Given the description of an element on the screen output the (x, y) to click on. 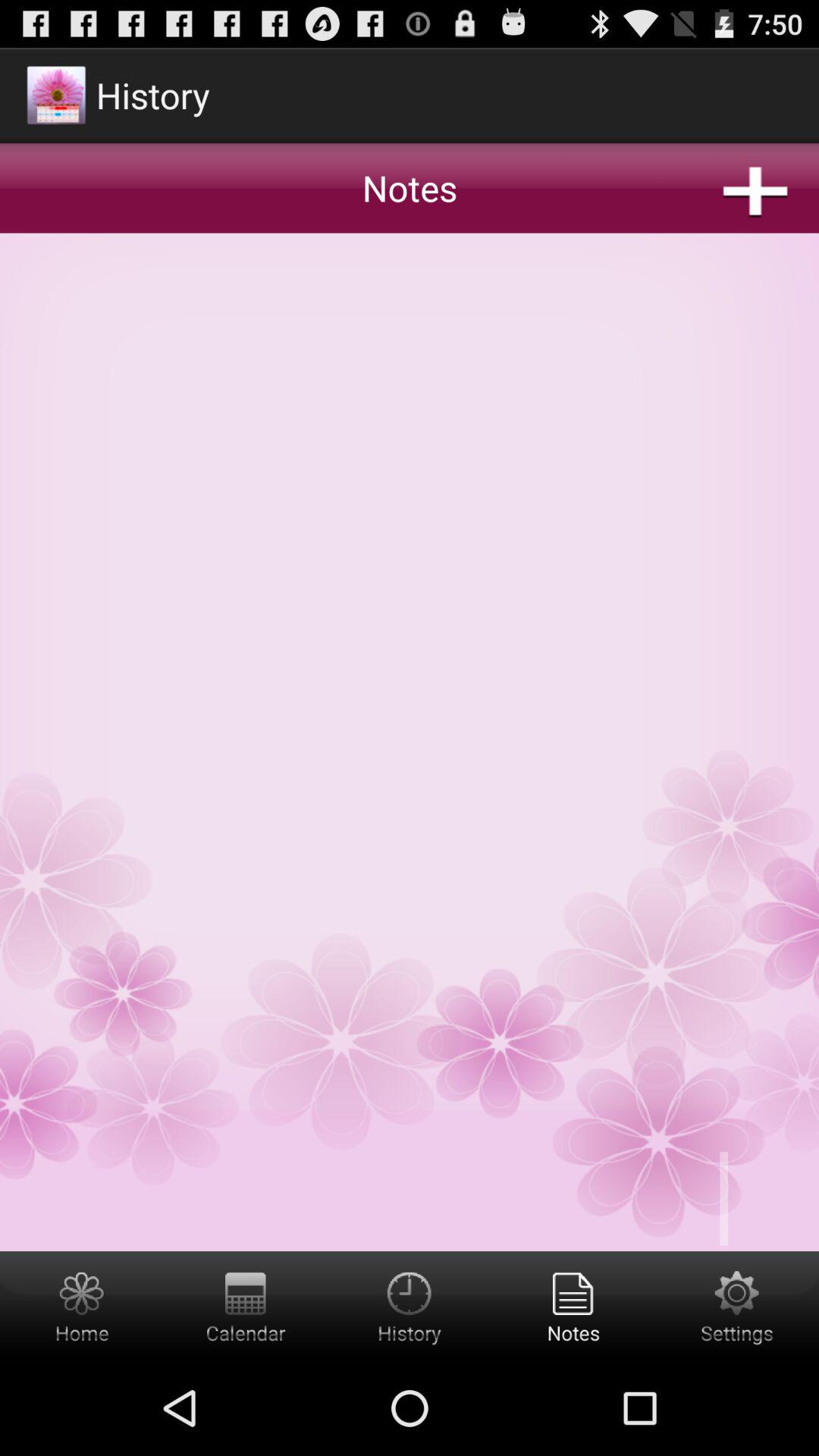
home button (81, 1305)
